Given the description of an element on the screen output the (x, y) to click on. 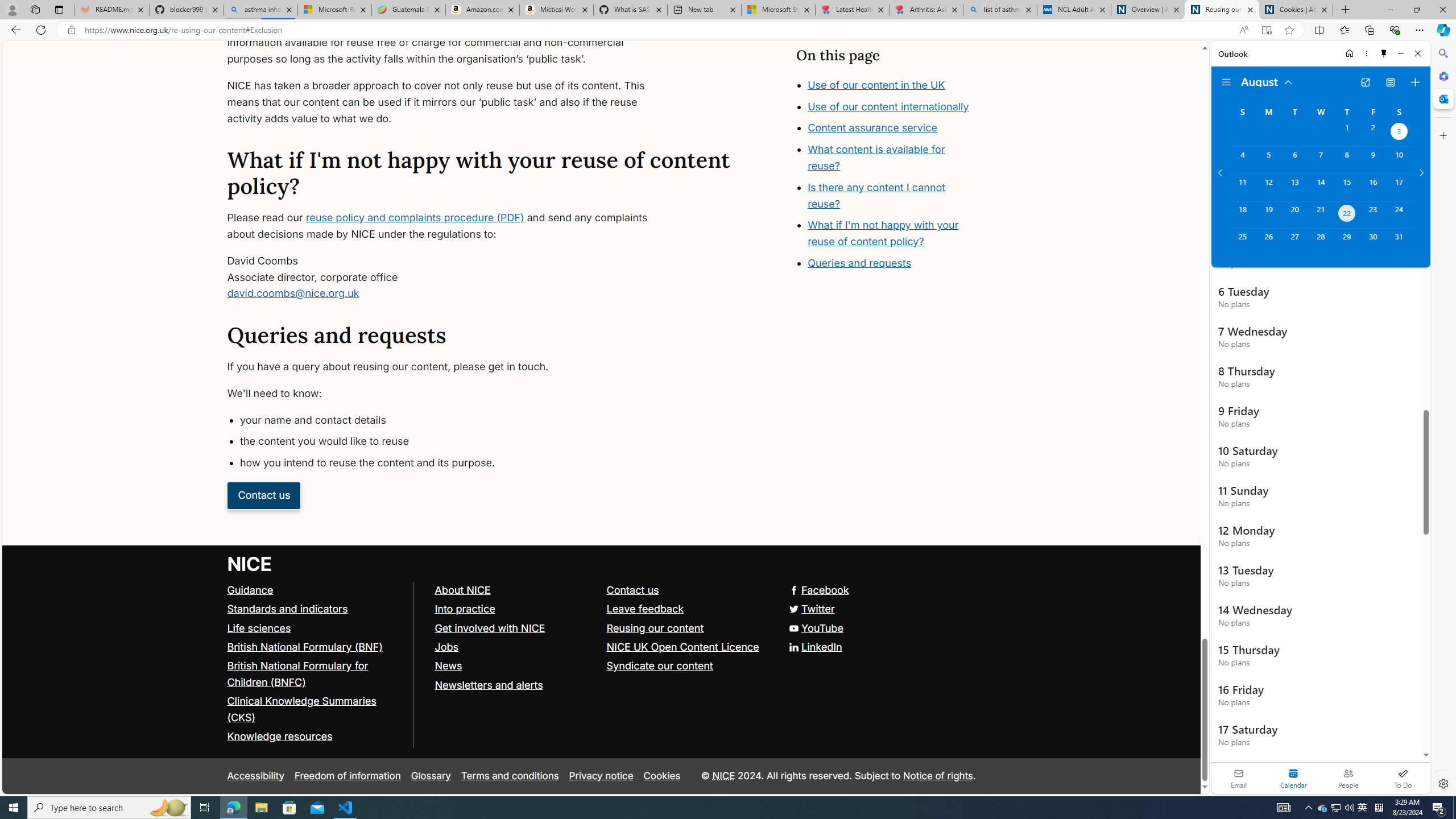
Terms and conditions (509, 775)
Friday, August 2, 2024.  (1372, 132)
What content is available for reuse? (896, 181)
To Do (1402, 777)
Enter Immersive Reader (F9) (1266, 29)
Cookies (662, 775)
What content is available for reuse? (876, 157)
